Given the description of an element on the screen output the (x, y) to click on. 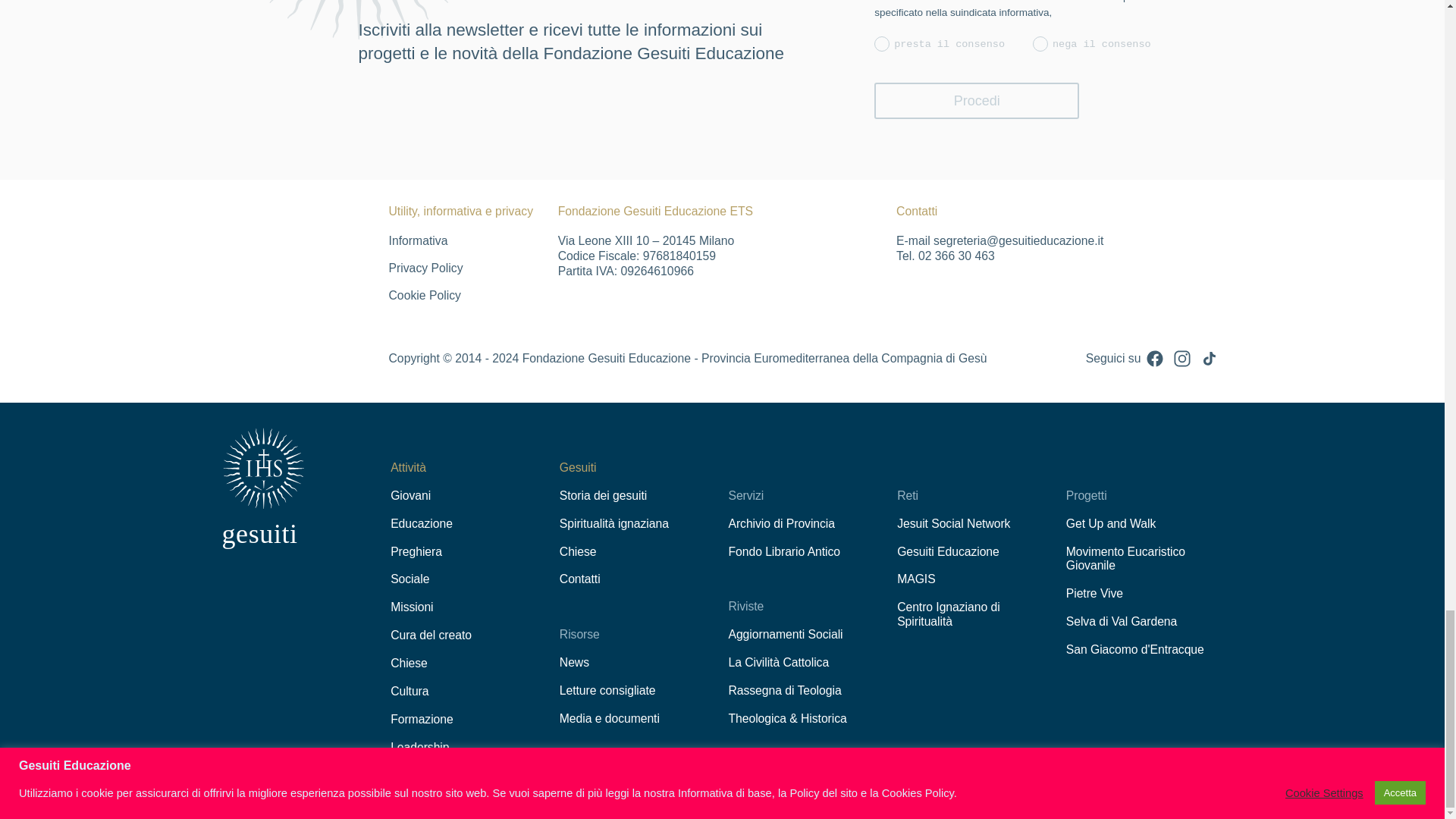
Procedi (976, 100)
